Given the description of an element on the screen output the (x, y) to click on. 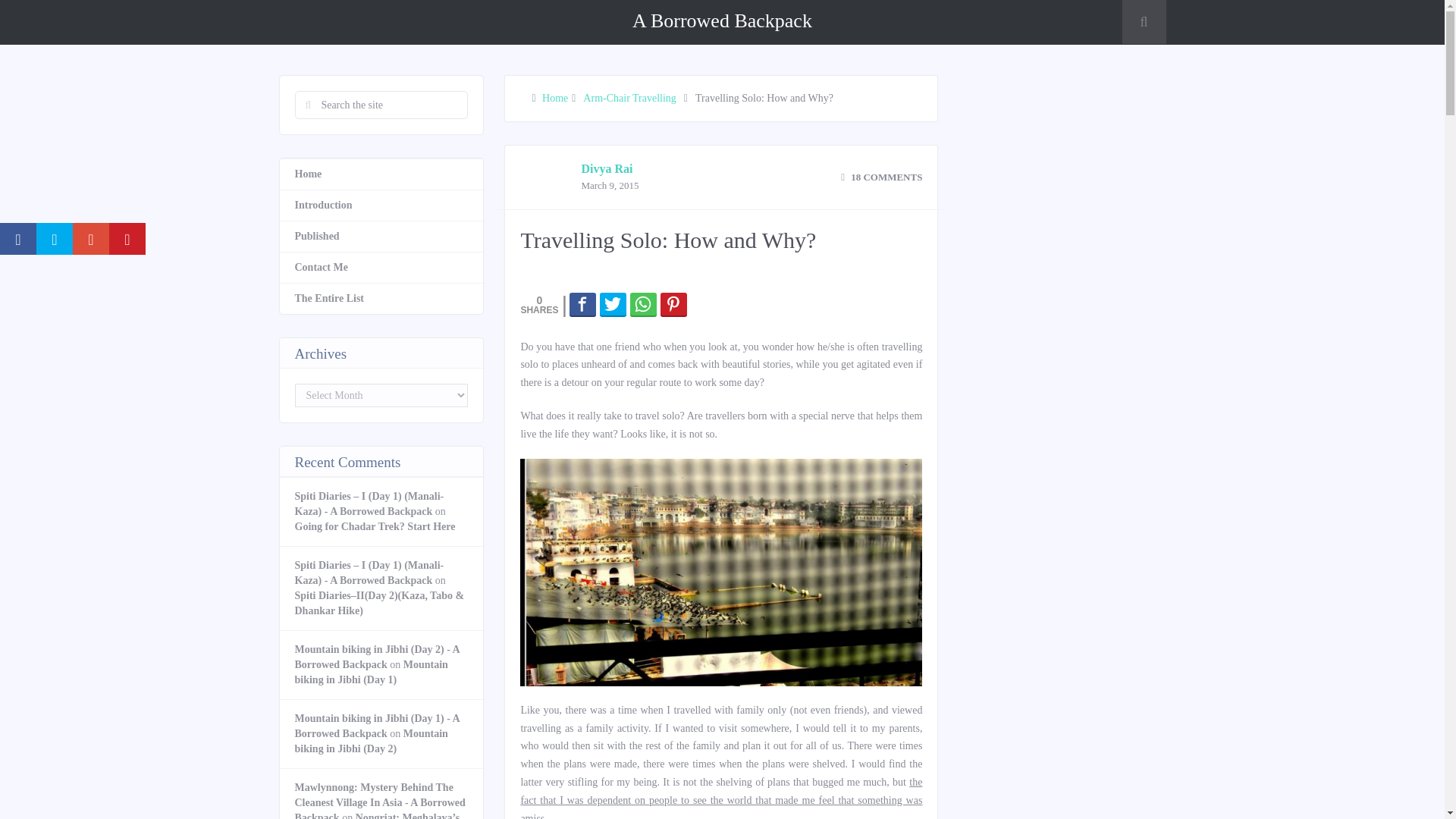
Share on Pinterest (674, 303)
Arm-Chair Travelling (630, 98)
Share on WhatsApp (643, 303)
Tweet (612, 303)
18 COMMENTS (881, 176)
Home (554, 98)
Divya Rai (605, 168)
A Borrowed Backpack (721, 20)
Share on Facebook (582, 303)
